Given the description of an element on the screen output the (x, y) to click on. 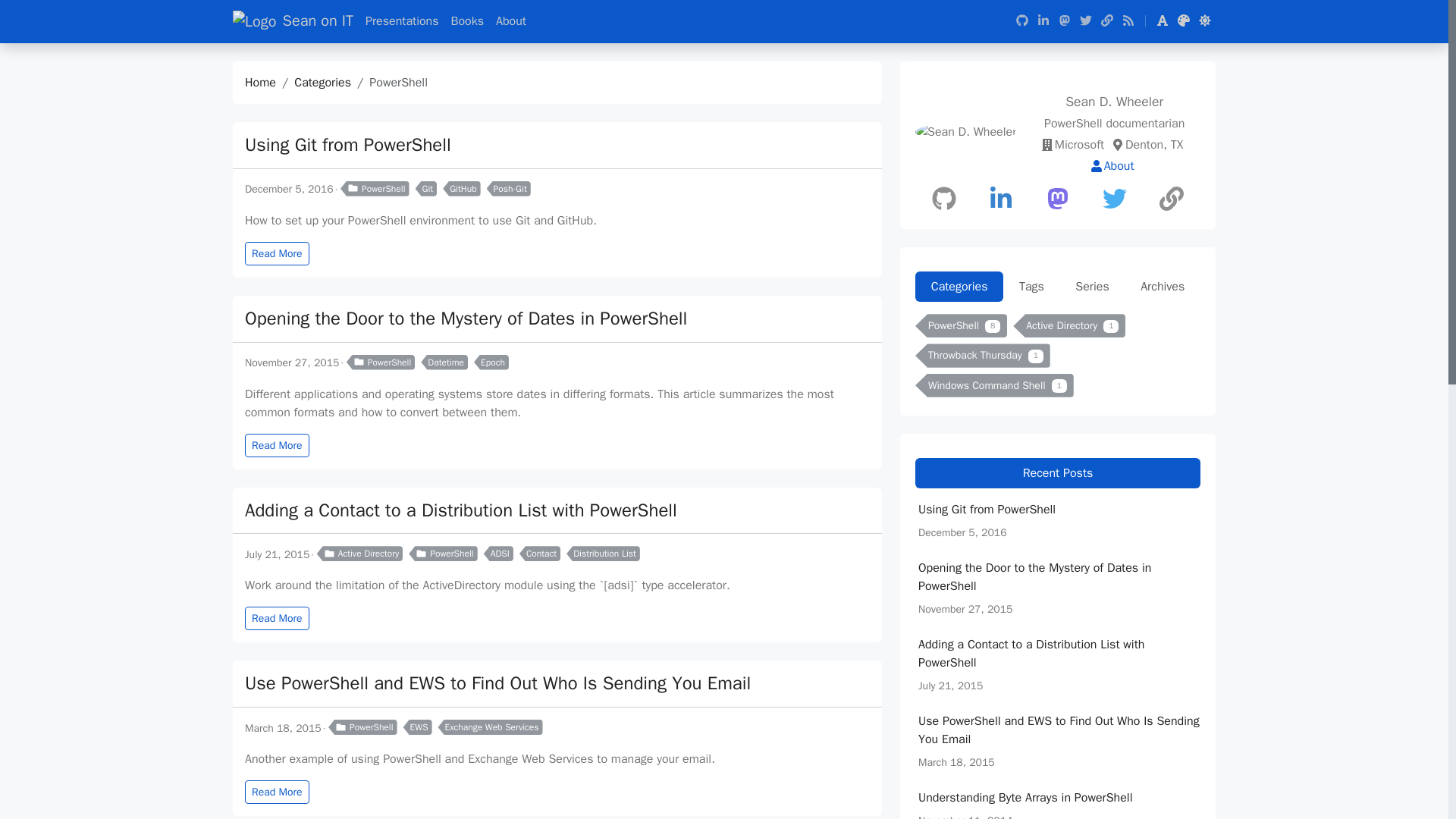
Home (260, 82)
Categories (322, 82)
Git (426, 188)
About (510, 20)
LinkedIn (1000, 198)
Presentations (401, 20)
Website (1171, 198)
Books (467, 20)
Twitter (1114, 198)
Mastodon (1057, 198)
